Given the description of an element on the screen output the (x, y) to click on. 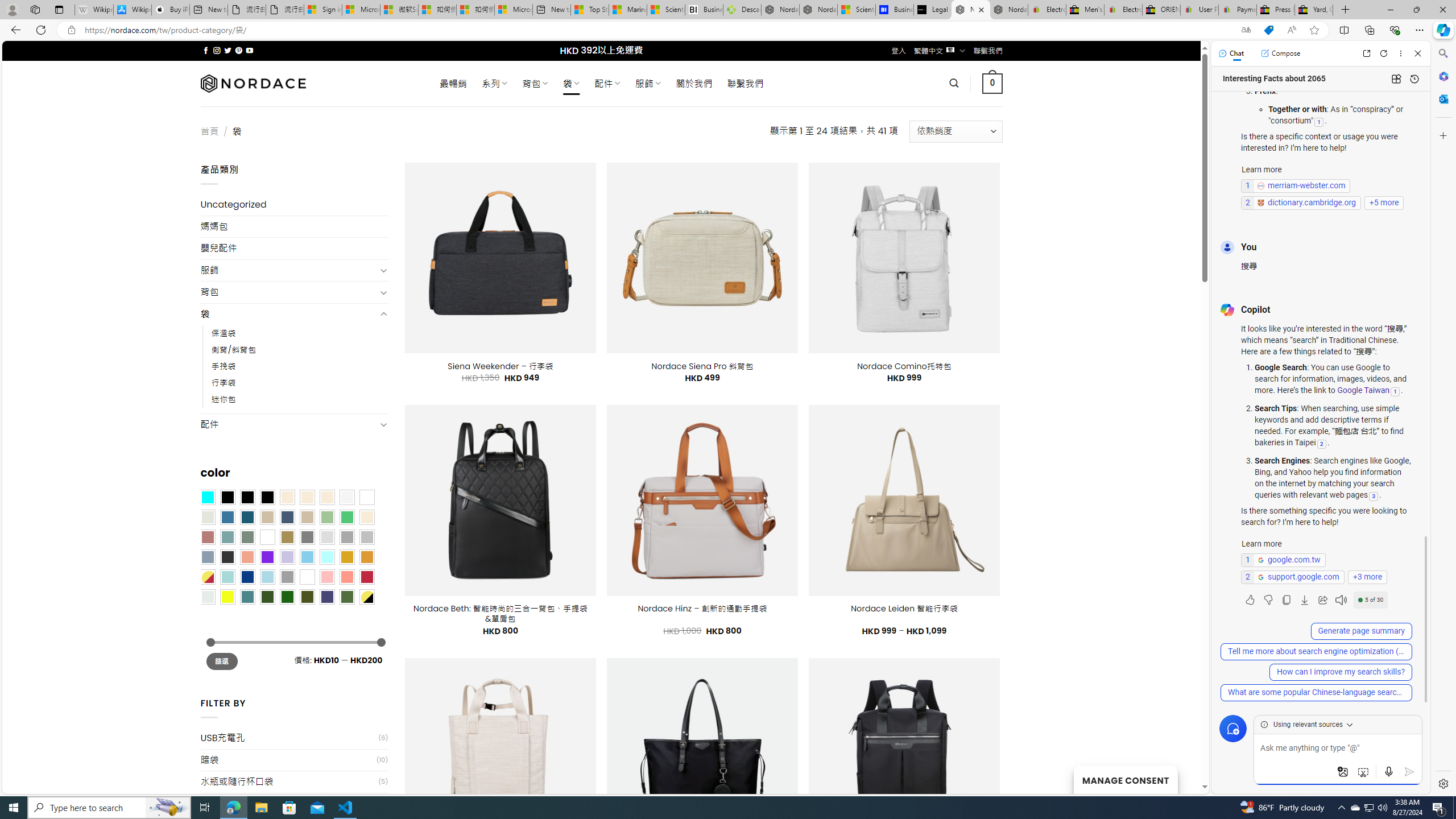
Payments Terms of Use | eBay.com (1237, 9)
